Given the description of an element on the screen output the (x, y) to click on. 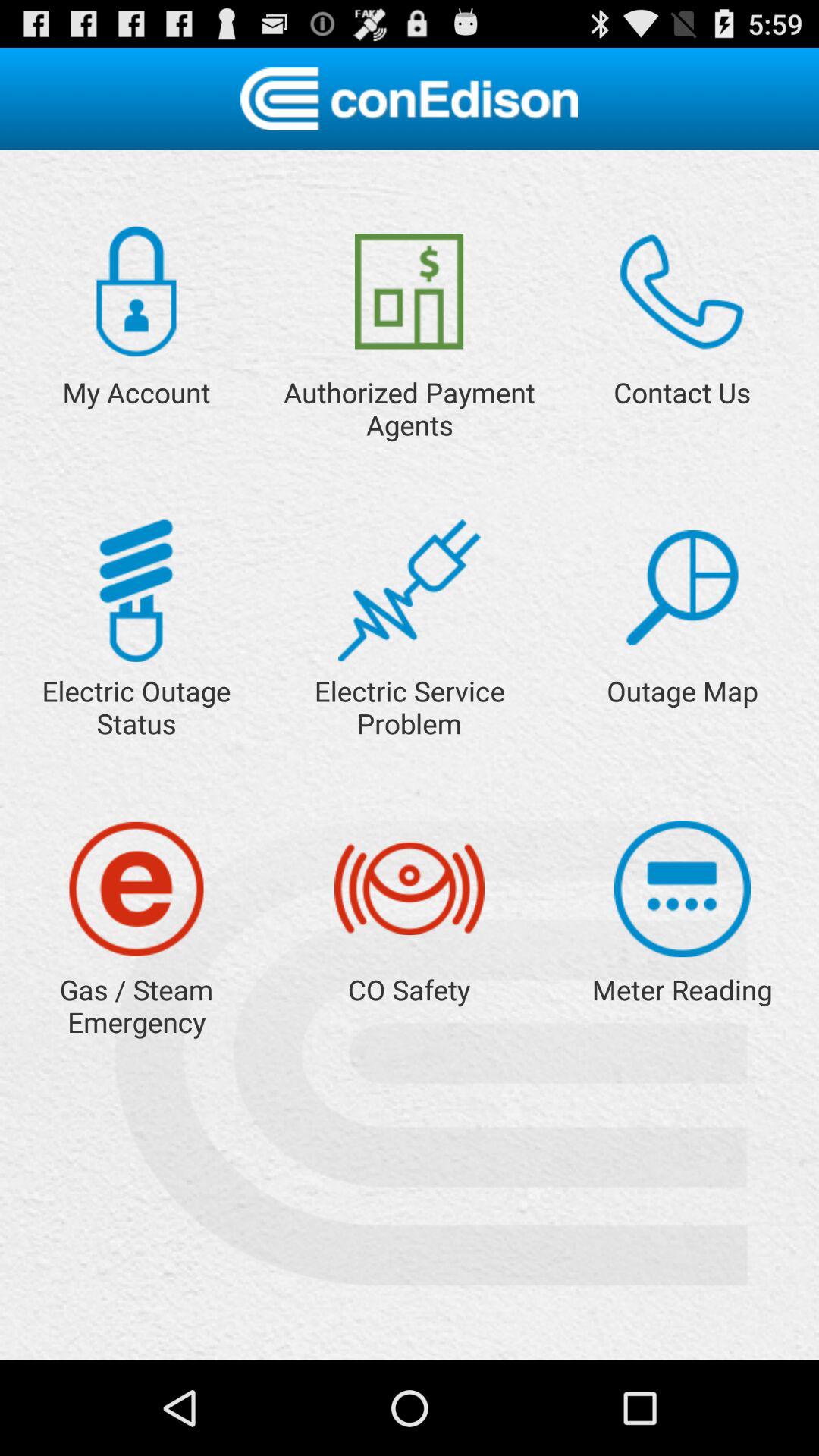
click for emergency (136, 888)
